Given the description of an element on the screen output the (x, y) to click on. 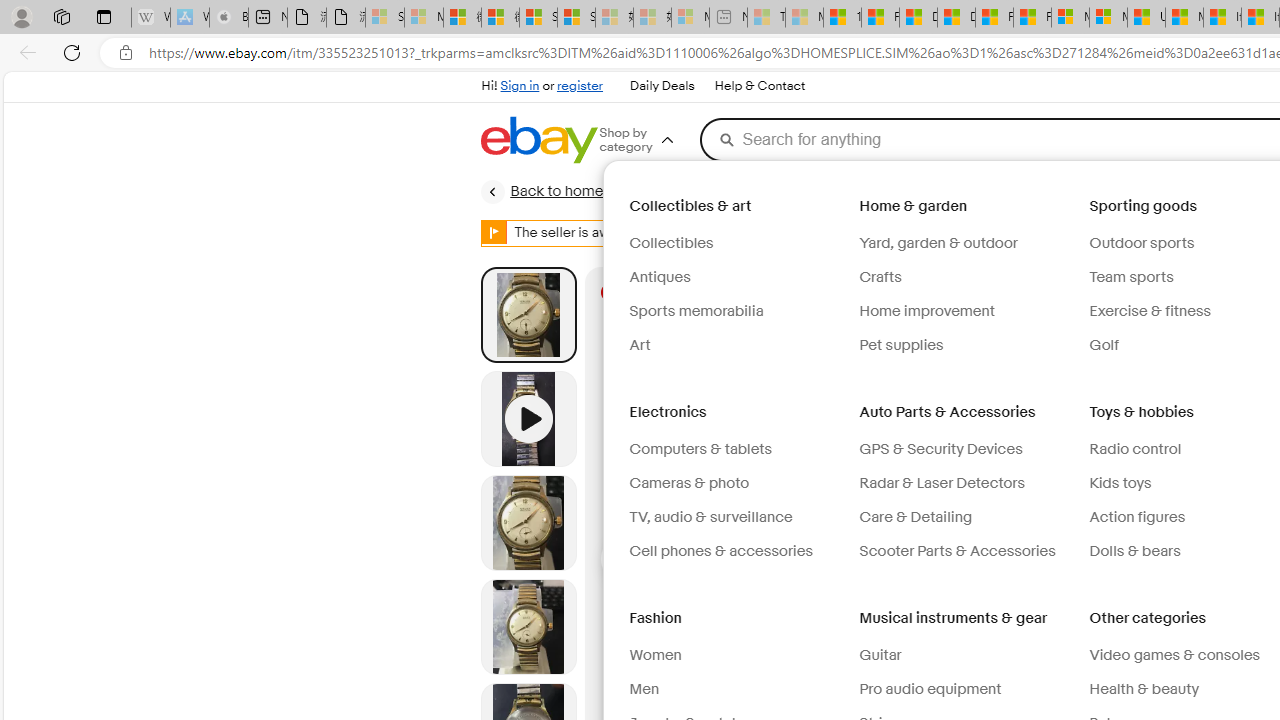
Kids toys (1120, 483)
Team sports (1131, 277)
Watches (1078, 191)
Women (654, 655)
register (579, 85)
Marine life - MSN - Sleeping (804, 17)
Watches (1065, 191)
Help & Contact (758, 85)
Guitar (880, 655)
Pro audio equipment (930, 689)
Cell phones & accessories (736, 551)
Men (736, 690)
Health & beauty (1144, 689)
Video 1 of 1 (528, 417)
